Given the description of an element on the screen output the (x, y) to click on. 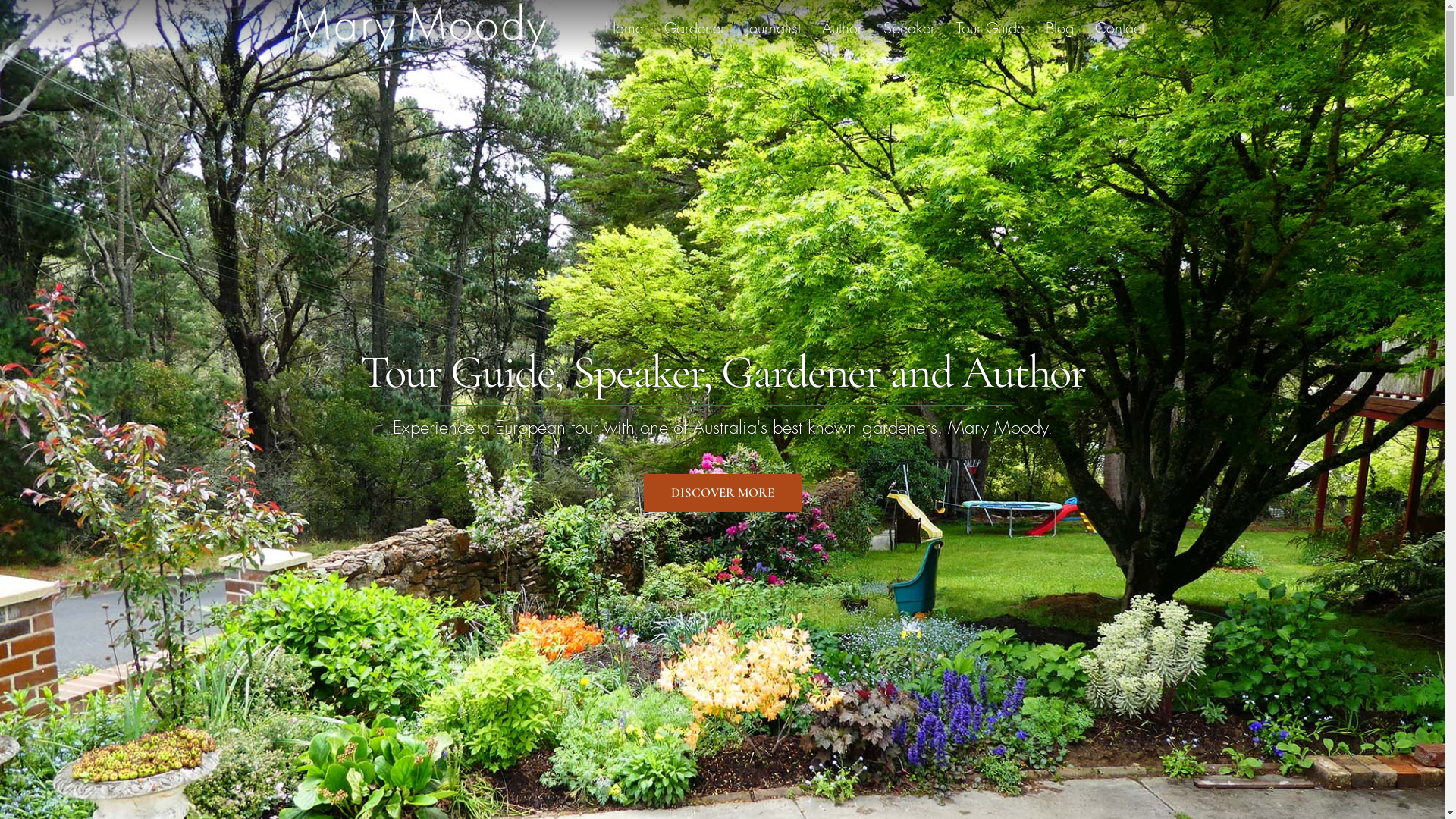
Speaker Element type: text (908, 28)
Gardener Element type: text (694, 28)
Home Element type: text (624, 28)
Author Element type: text (842, 28)
Blog Element type: text (1058, 28)
Contact Element type: text (1119, 28)
DISCOVER MORE Element type: text (721, 492)
Tour Guide Element type: text (989, 28)
Mary Moody Element type: hover (418, 28)
Journalist Element type: text (773, 28)
Skip to content Element type: text (0, 0)
